Given the description of an element on the screen output the (x, y) to click on. 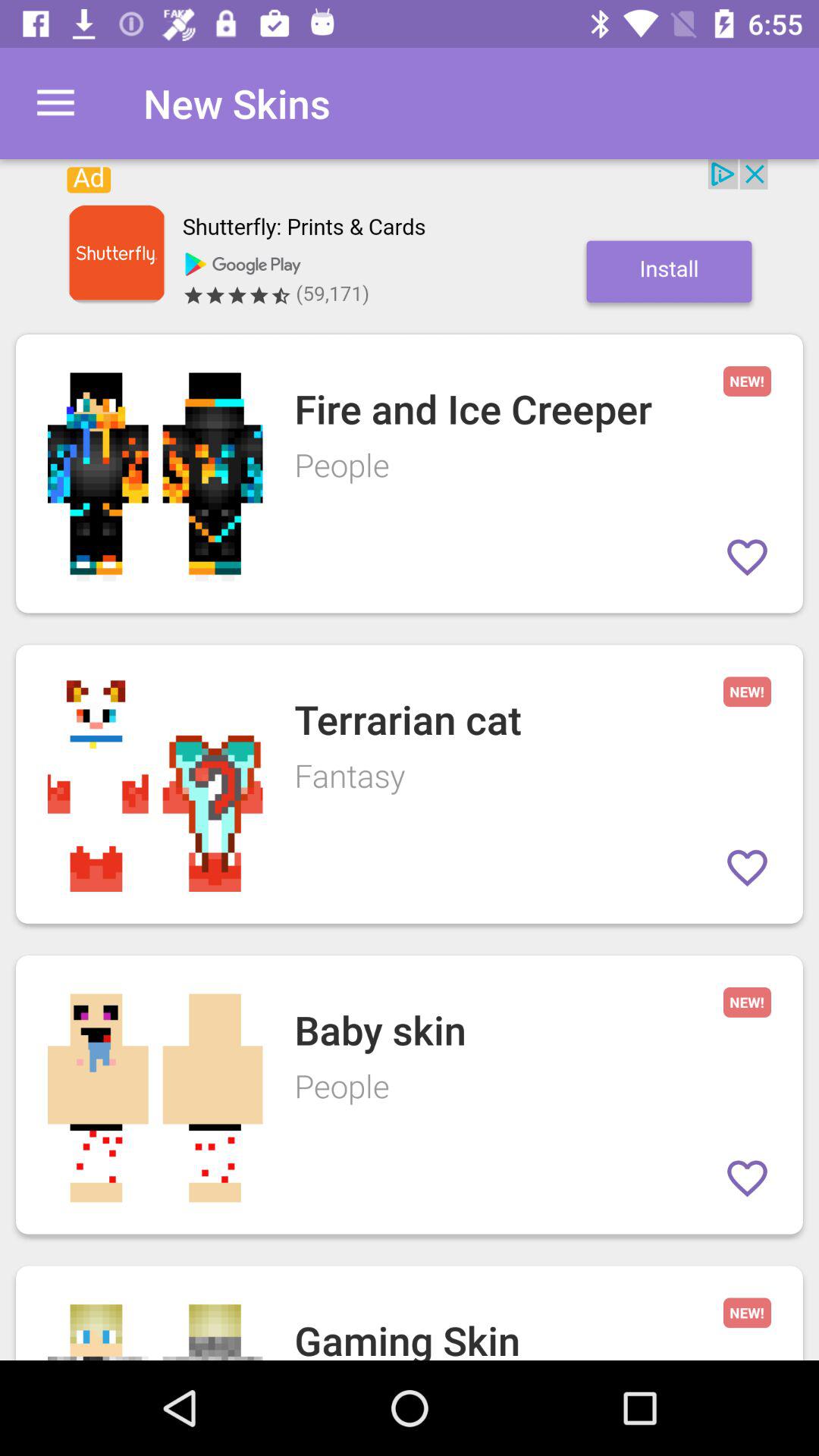
application (409, 238)
